Given the description of an element on the screen output the (x, y) to click on. 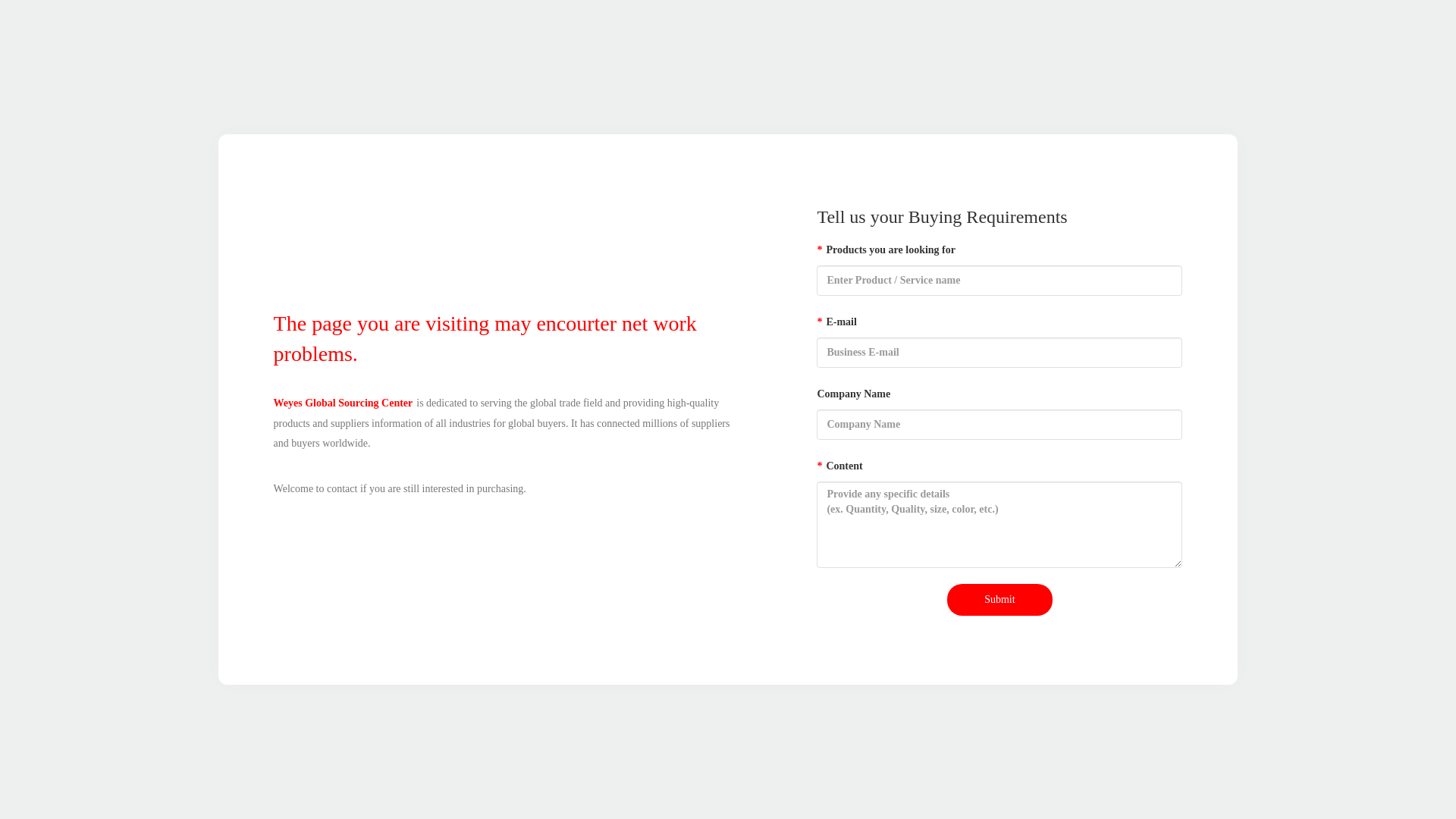
Submit (999, 599)
